Given the description of an element on the screen output the (x, y) to click on. 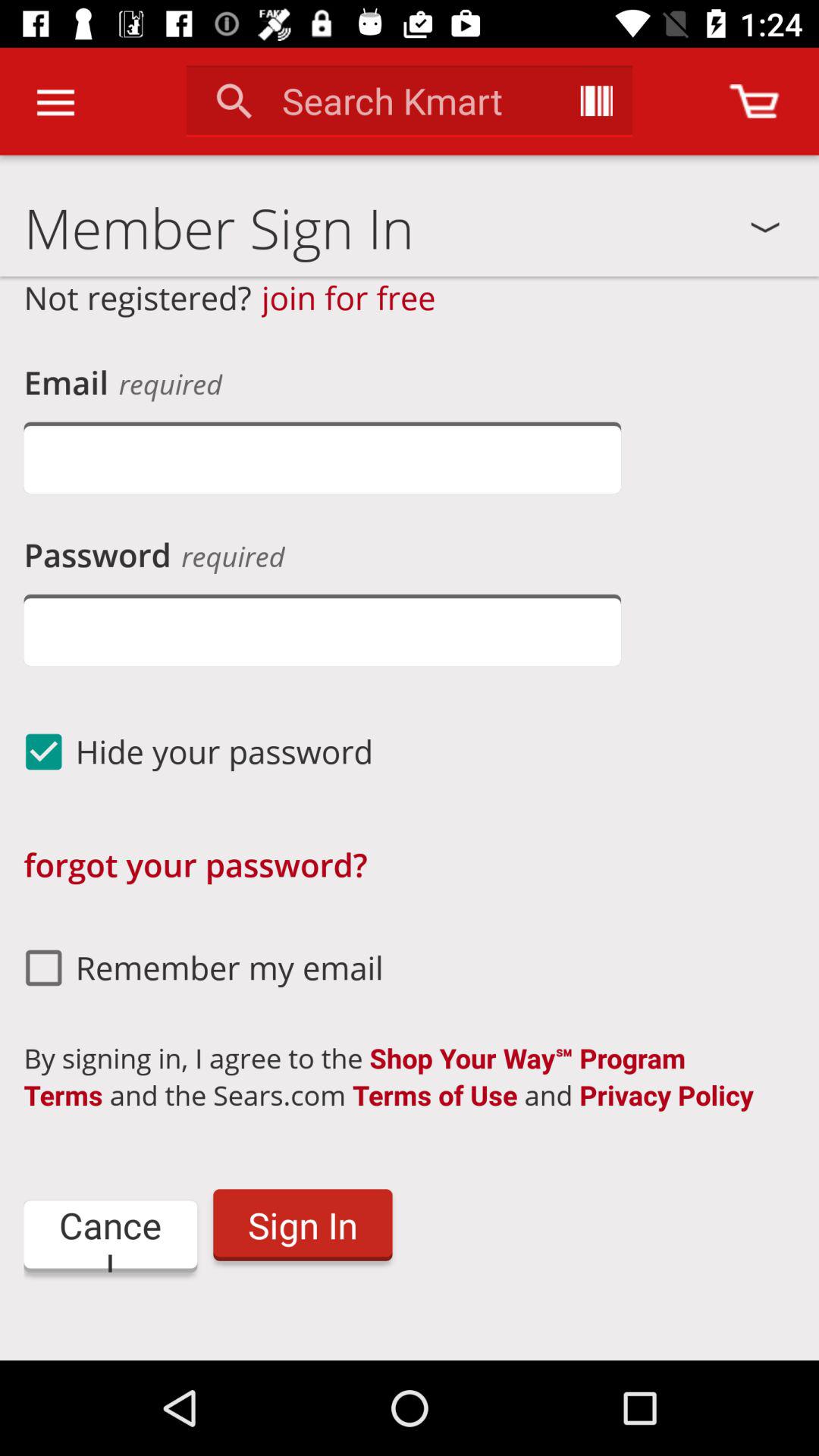
initiate search (596, 100)
